Given the description of an element on the screen output the (x, y) to click on. 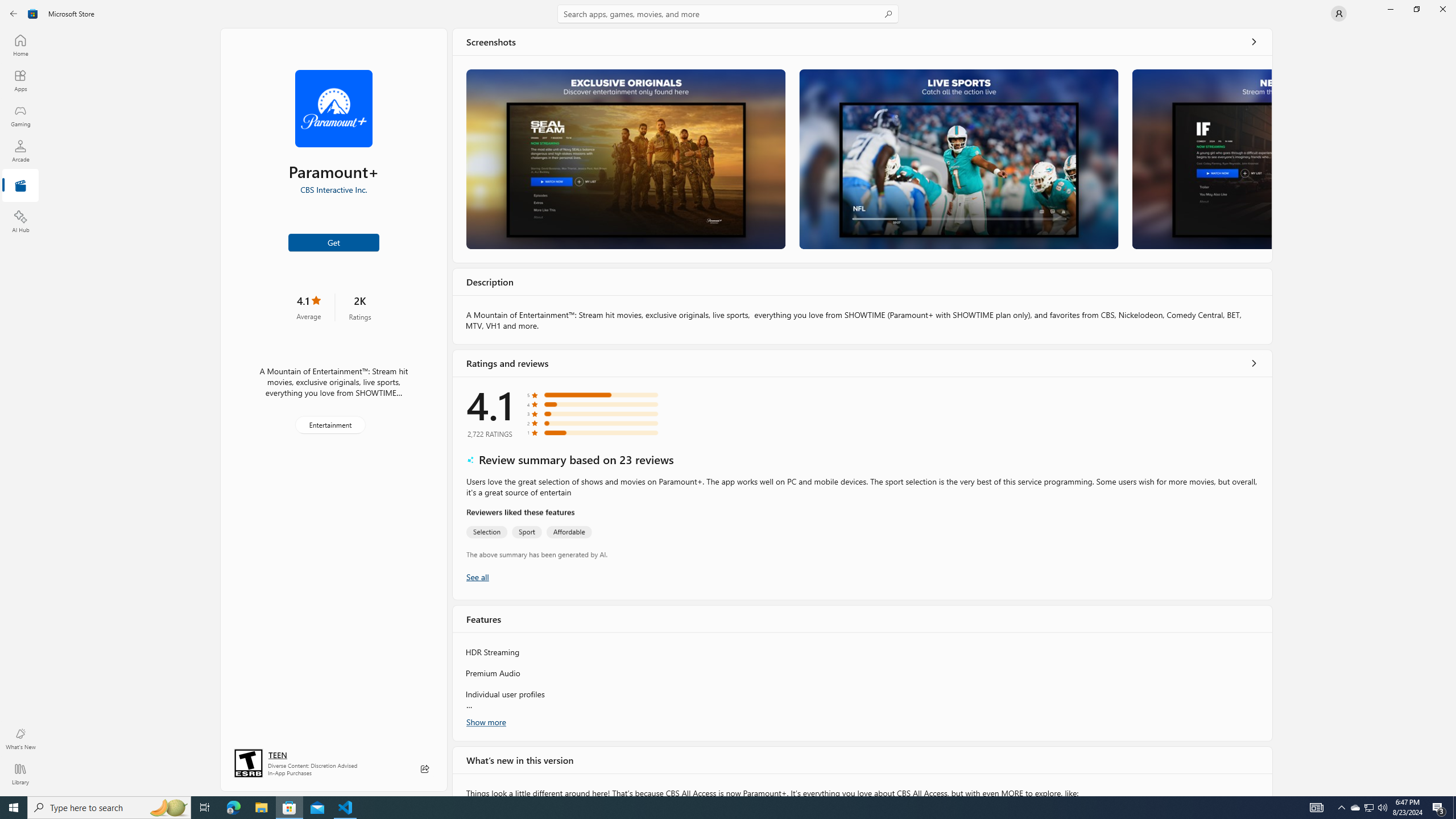
Screenshot 3 (1201, 158)
See all (1253, 41)
Screenshot 1 (624, 158)
CBS Interactive Inc. (332, 189)
Get (334, 241)
Share (424, 769)
